Given the description of an element on the screen output the (x, y) to click on. 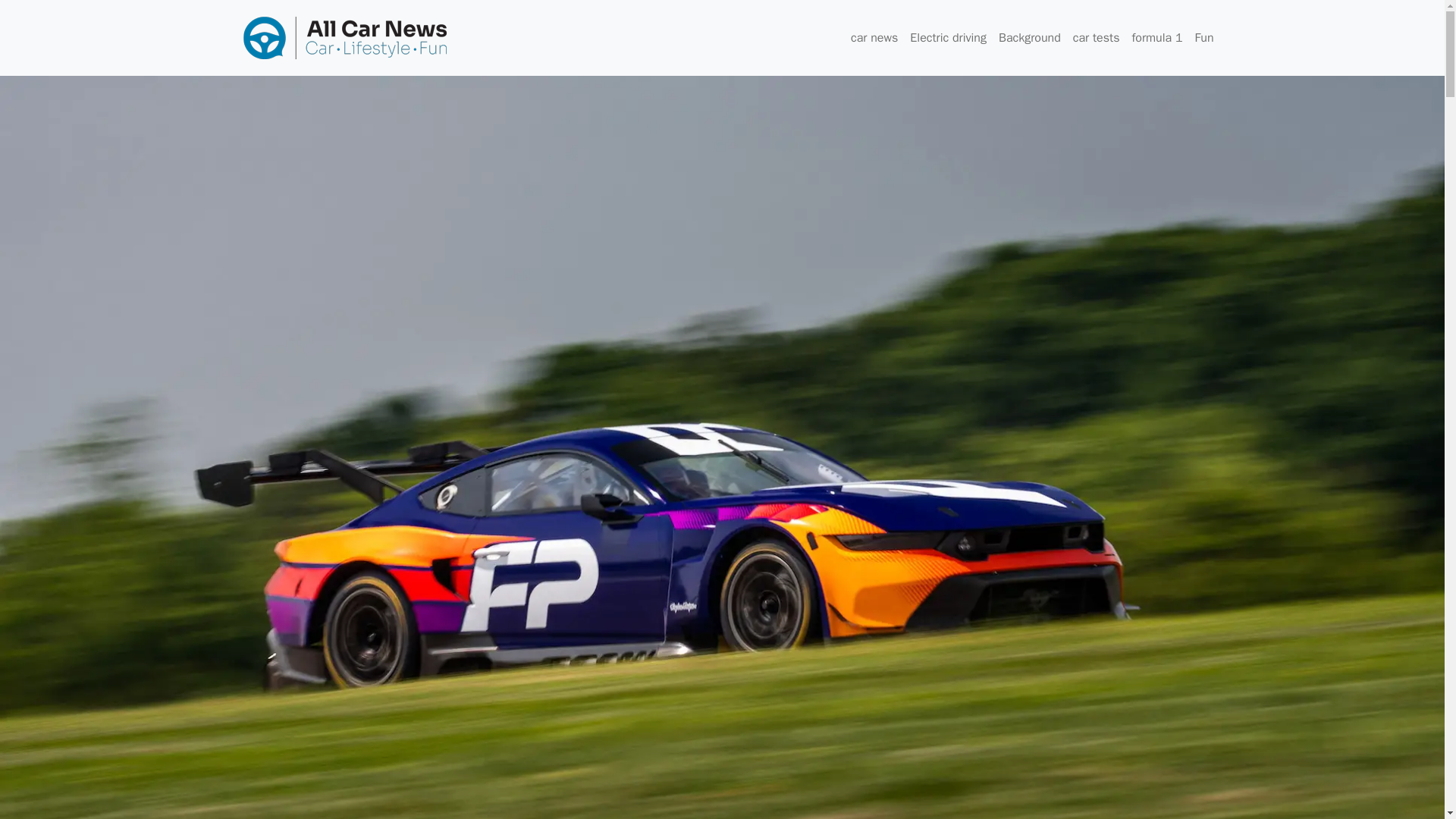
Fun (1204, 37)
Electric driving (948, 37)
car news (874, 37)
formula 1 (1156, 37)
car tests (1096, 37)
Background (1029, 37)
